Given the description of an element on the screen output the (x, y) to click on. 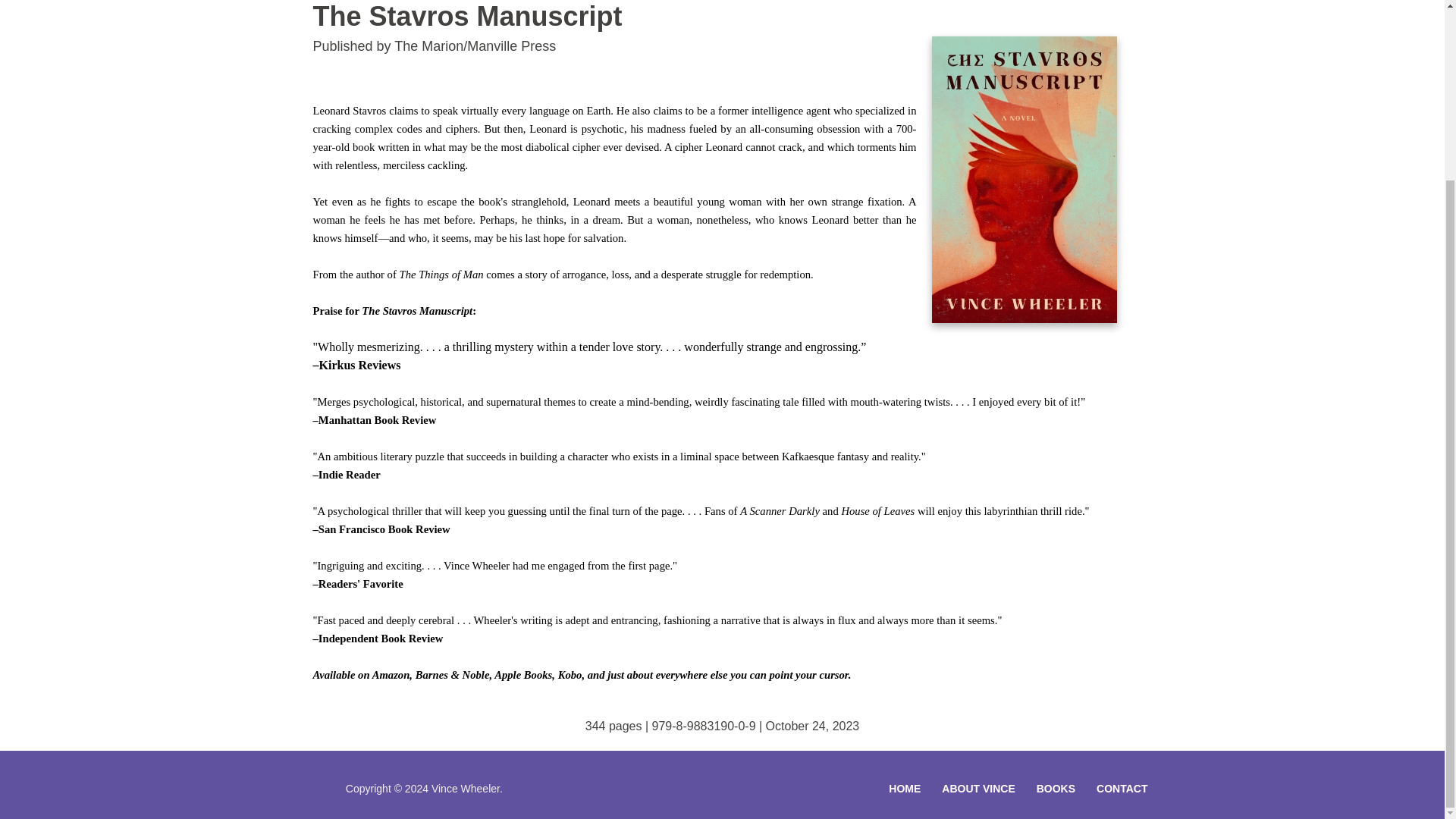
CONTACT (1121, 788)
HOME (904, 788)
ABOUT VINCE (978, 788)
BOOKS (1056, 788)
